Given the description of an element on the screen output the (x, y) to click on. 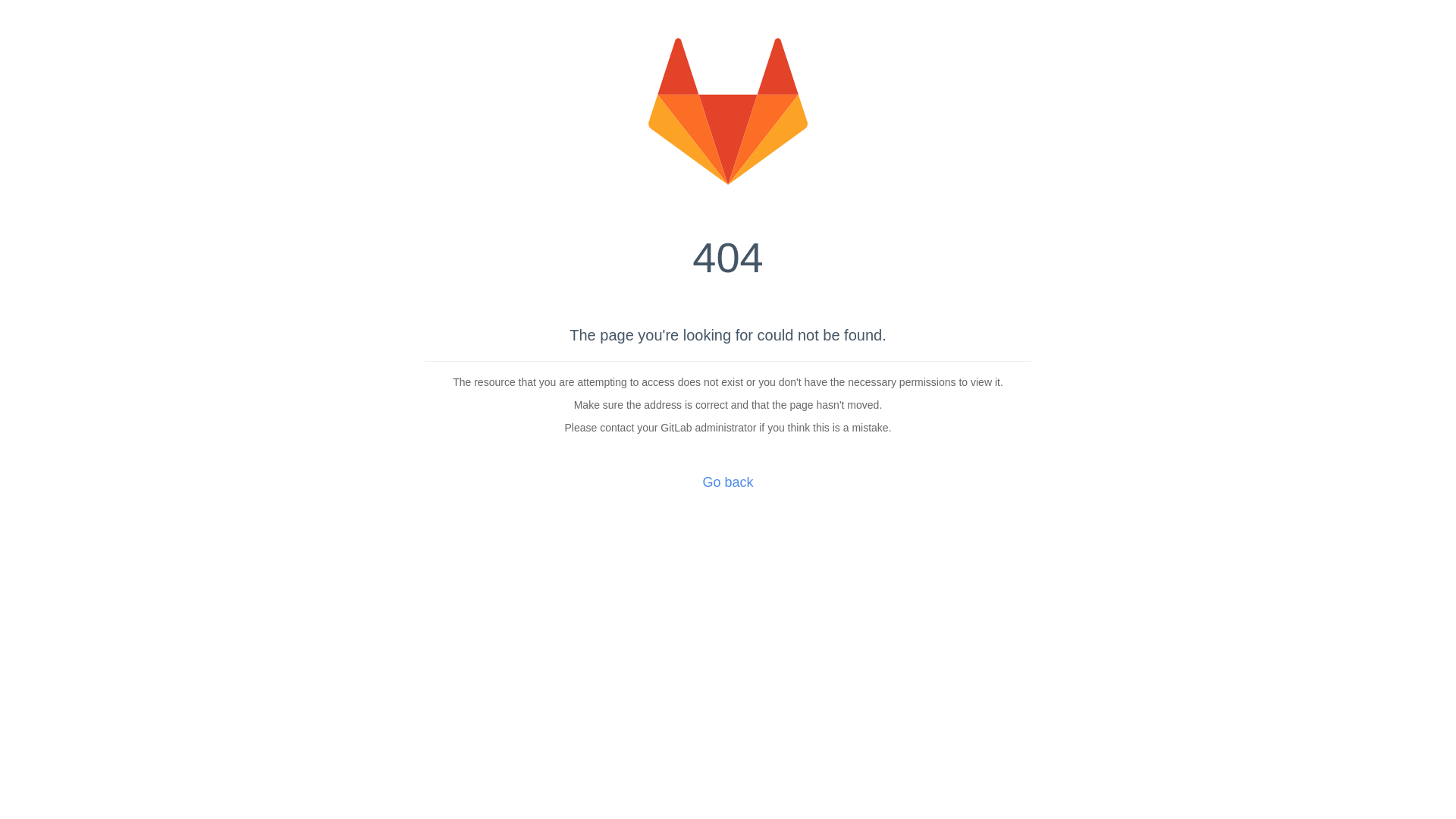
Go back Element type: text (727, 481)
